Given the description of an element on the screen output the (x, y) to click on. 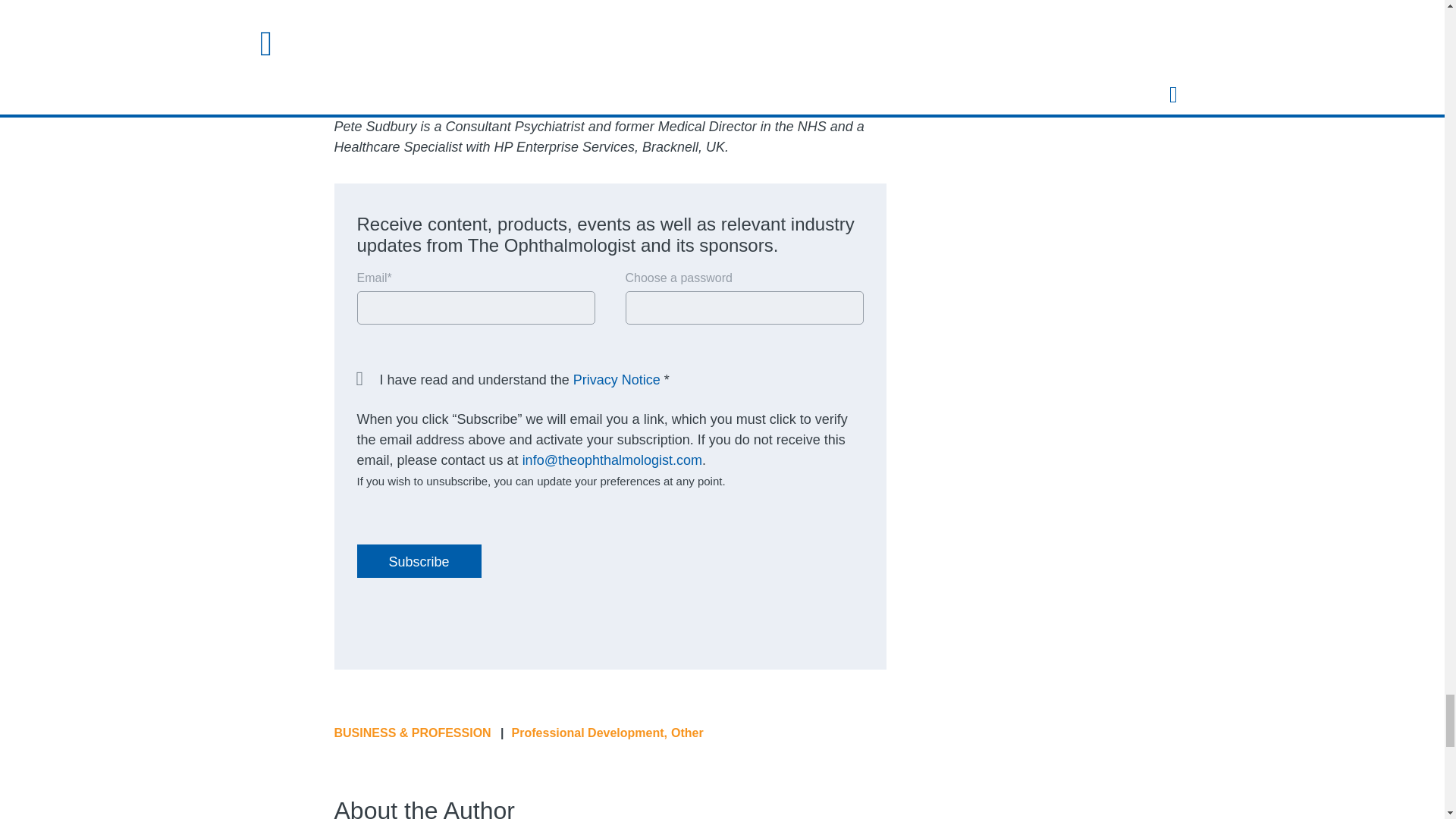
Professional Development, (589, 733)
Privacy Notice (617, 379)
Subscribe (418, 561)
Subscribe (418, 561)
Other (687, 733)
